Given the description of an element on the screen output the (x, y) to click on. 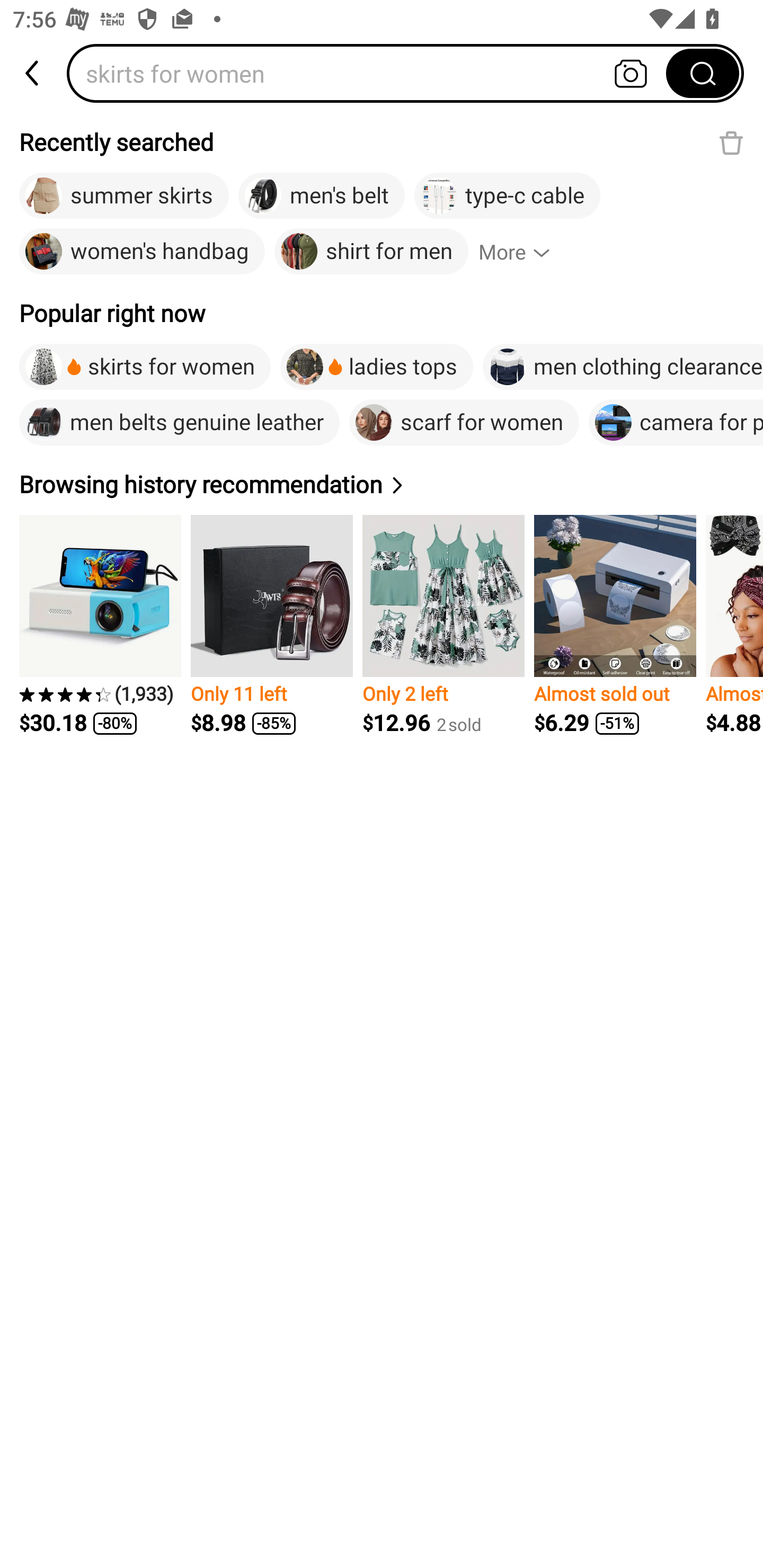
back (33, 72)
skirts for women (372, 73)
Search by photo (630, 73)
Delete recent search (731, 142)
summer skirts (123, 195)
men's belt (321, 195)
type-c cable (507, 195)
women's handbag (141, 251)
shirt for men (371, 251)
More (521, 251)
skirts for women (144, 366)
ladies tops (376, 366)
men clothing clearance (622, 366)
men belts genuine leather (179, 422)
scarf for women (464, 422)
camera for photography (676, 422)
Browsing history recommendation (213, 484)
(1,933) $30.18 -80% (100, 625)
Only 11 left $8.98 -85% (271, 625)
Only 2 left $12.96 2￼sold (443, 625)
Almost sold out $6.29 -51% (614, 625)
